Given the description of an element on the screen output the (x, y) to click on. 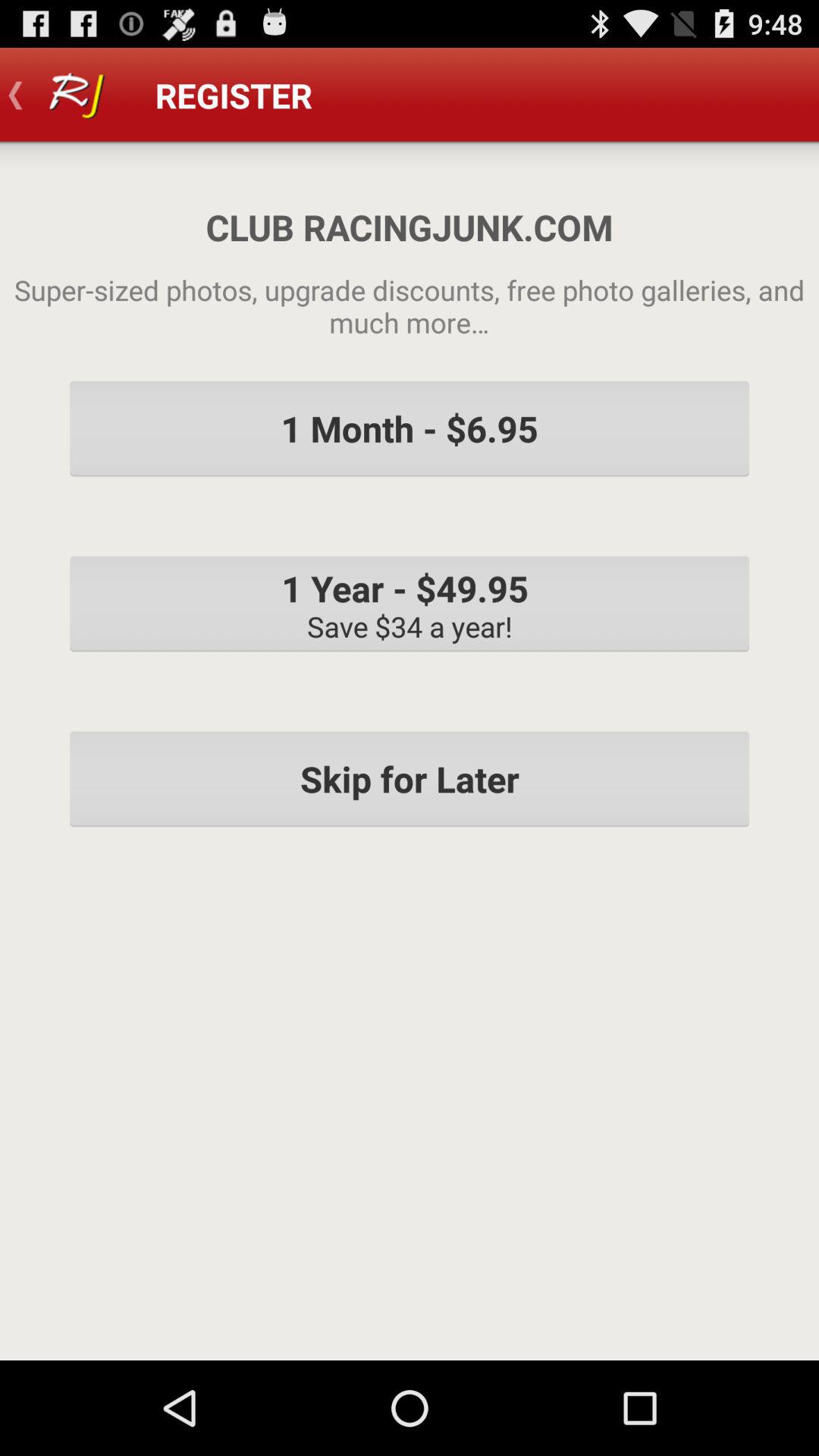
open skip for later item (409, 778)
